Given the description of an element on the screen output the (x, y) to click on. 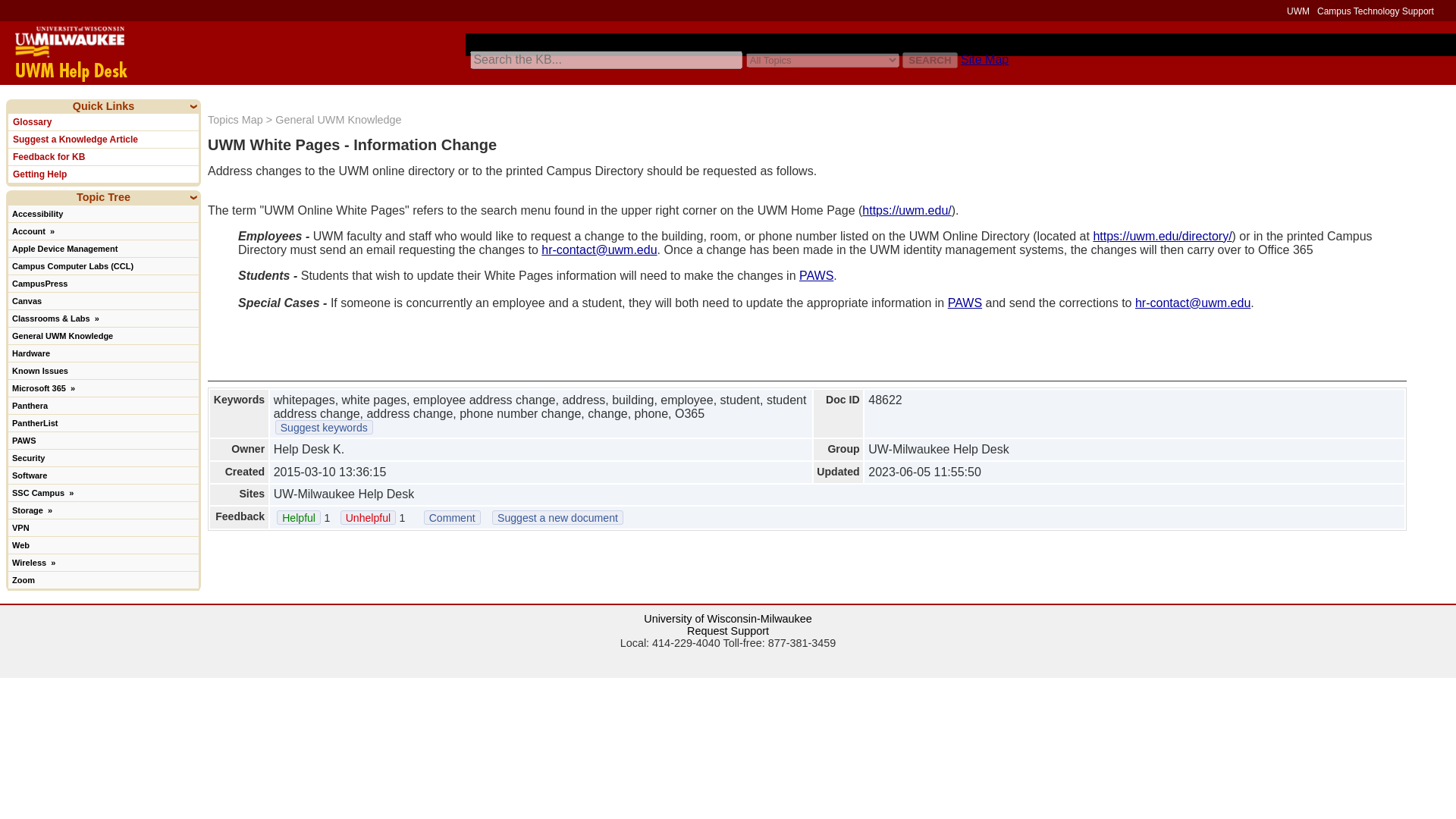
SEARCH (929, 59)
SEARCH (929, 59)
Feedback for KB (103, 156)
Helpful (298, 517)
SEARCH (929, 59)
UWM (1297, 10)
Directory (1162, 236)
Accessibility (103, 212)
Glossary (103, 121)
Unhelpful (368, 517)
